Given the description of an element on the screen output the (x, y) to click on. 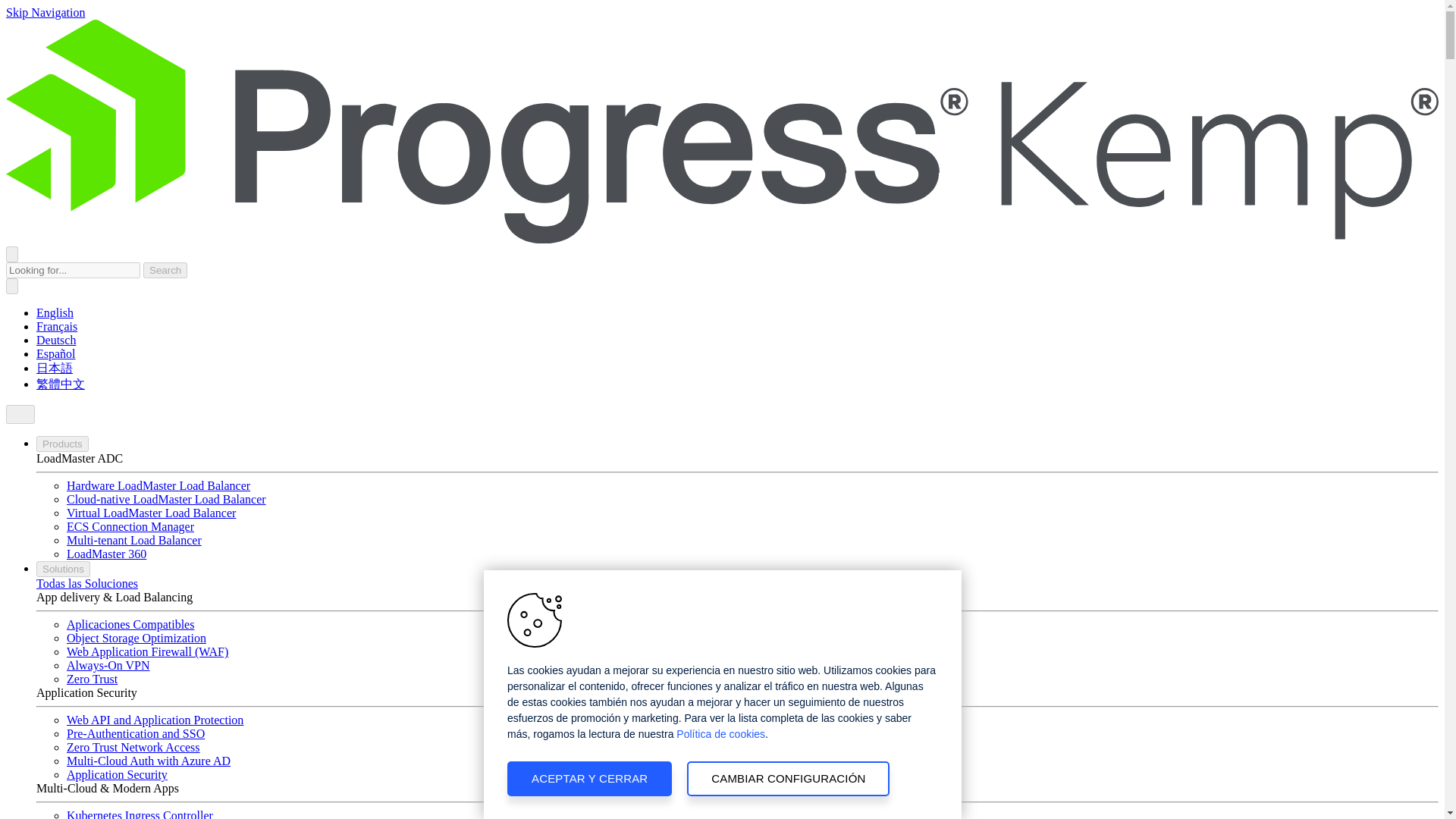
Products (62, 443)
Search (164, 270)
Pre-Authentication and SSO (135, 733)
Cloud-native LoadMaster Load Balancer (166, 499)
English (55, 312)
Multi-Cloud Auth with Azure AD (148, 760)
Object Storage Optimization (136, 637)
Zero Trust Network Access (133, 747)
Web API and Application Protection (154, 719)
Application Security (116, 774)
Solutions (63, 569)
Skip Navigation (44, 11)
Zero Trust (91, 678)
LoadMaster 360 (106, 553)
Kubernetes Ingress Controller (139, 814)
